Given the description of an element on the screen output the (x, y) to click on. 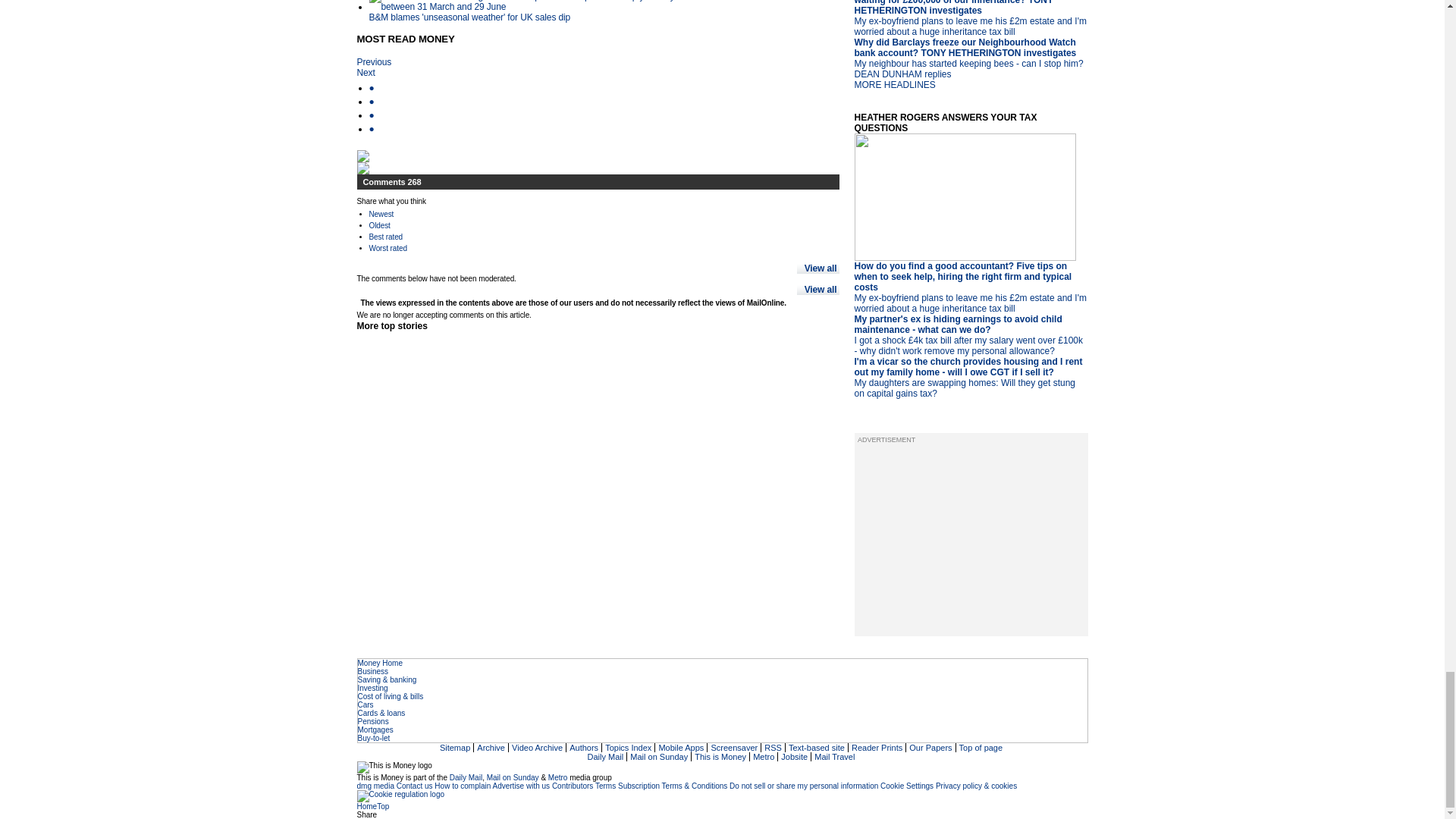
Award-winning UK job search and jobs by email service (795, 756)
Find out more information about cookies on this website (400, 794)
News, sport, health and showbiz from The Daily Mail (606, 756)
Competitions, games and offbeat stories from Metro (764, 756)
News, sport and showbiz from The Mail on Sunday (659, 756)
Mail Travel (835, 756)
Daily Mail Pictures (877, 747)
Our Papers (931, 747)
